Given the description of an element on the screen output the (x, y) to click on. 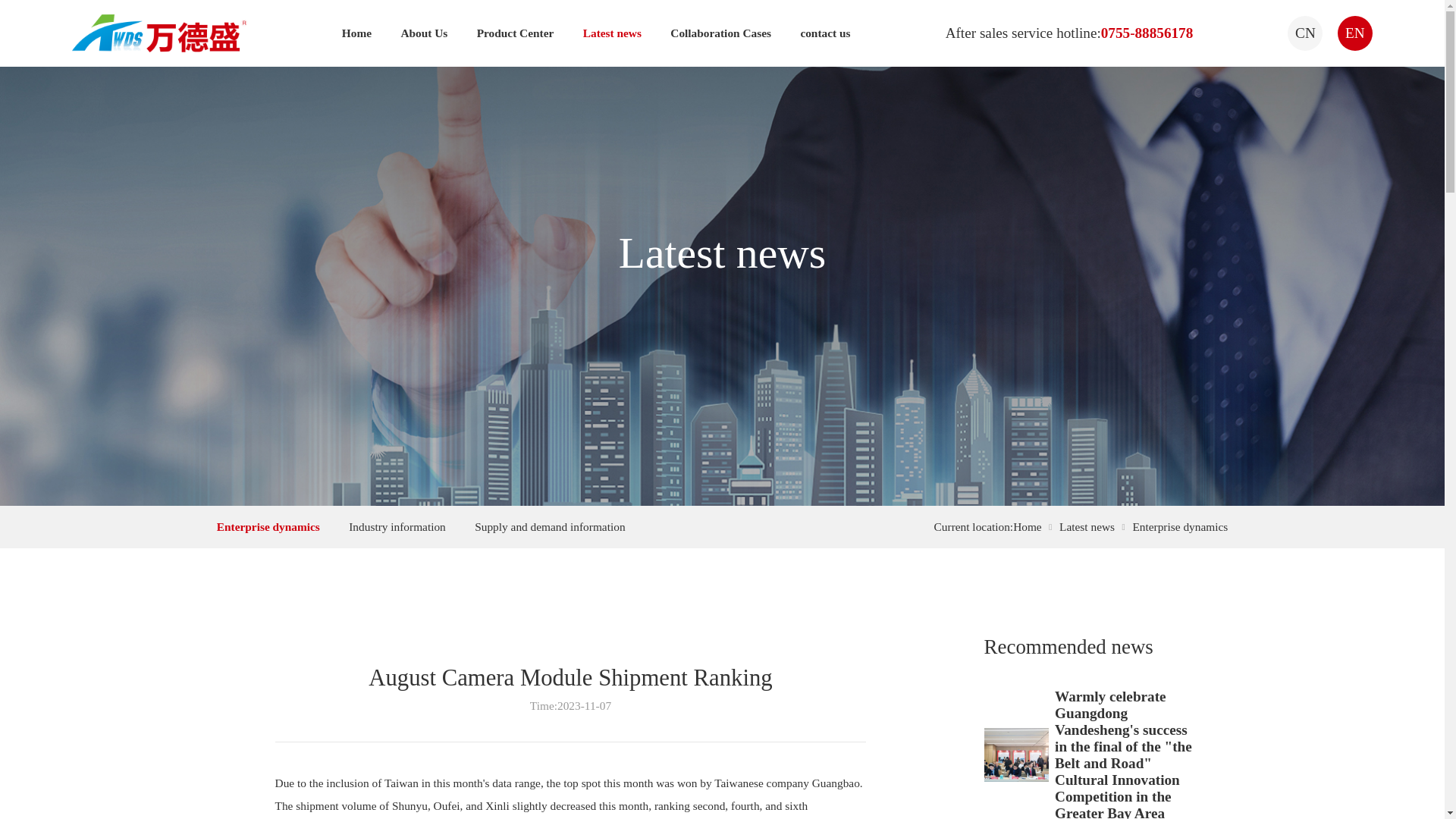
Enterprise dynamics (268, 526)
Latest news (1087, 526)
Product Center (515, 33)
Collaboration Cases (720, 33)
Industry information (397, 526)
Enterprise dynamics (1179, 526)
Supply and demand information (549, 526)
CN (1304, 32)
Home (1027, 526)
Product Center (515, 33)
EN (1355, 32)
